Given the description of an element on the screen output the (x, y) to click on. 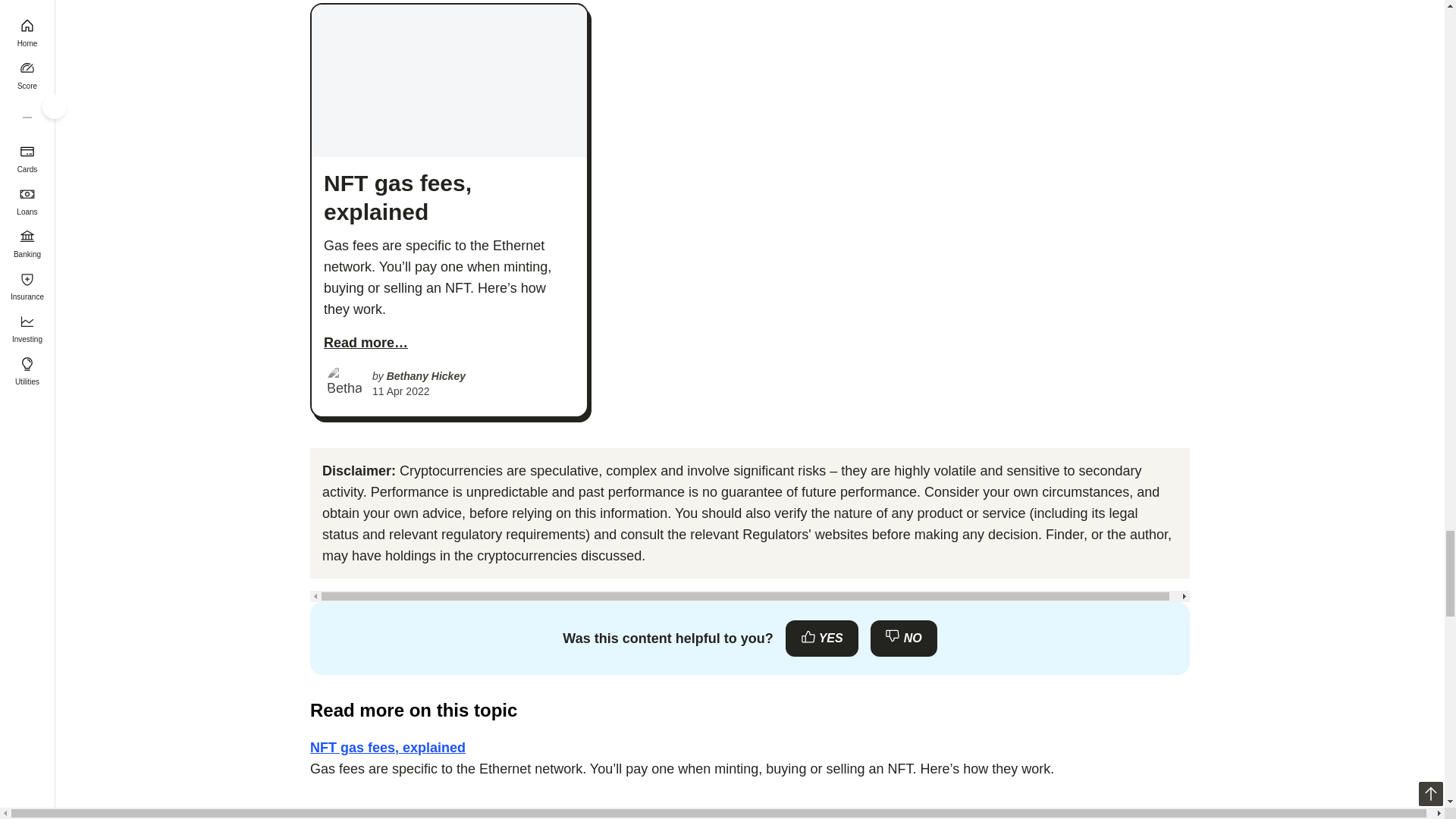
11 Apr 2022 (400, 390)
